Given the description of an element on the screen output the (x, y) to click on. 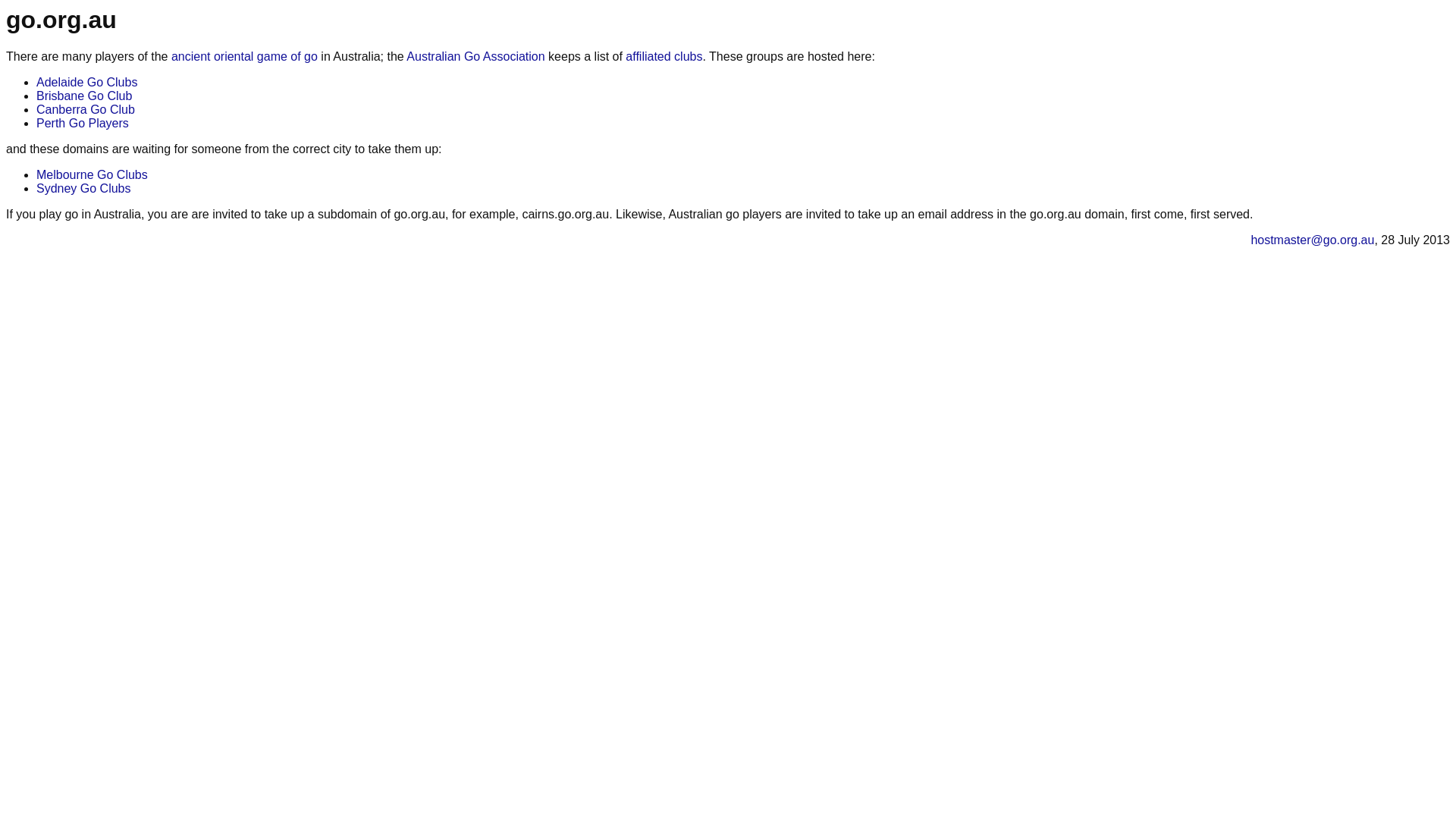
Sydney Go Clubs Element type: text (83, 188)
Canberra Go Club Element type: text (85, 109)
hostmaster@go.org.au Element type: text (1312, 239)
ancient oriental game of go Element type: text (244, 56)
Australian Go Association Element type: text (475, 56)
Adelaide Go Clubs Element type: text (86, 81)
Melbourne Go Clubs Element type: text (91, 174)
Perth Go Players Element type: text (82, 122)
Brisbane Go Club Element type: text (83, 95)
affiliated clubs Element type: text (663, 56)
